Given the description of an element on the screen output the (x, y) to click on. 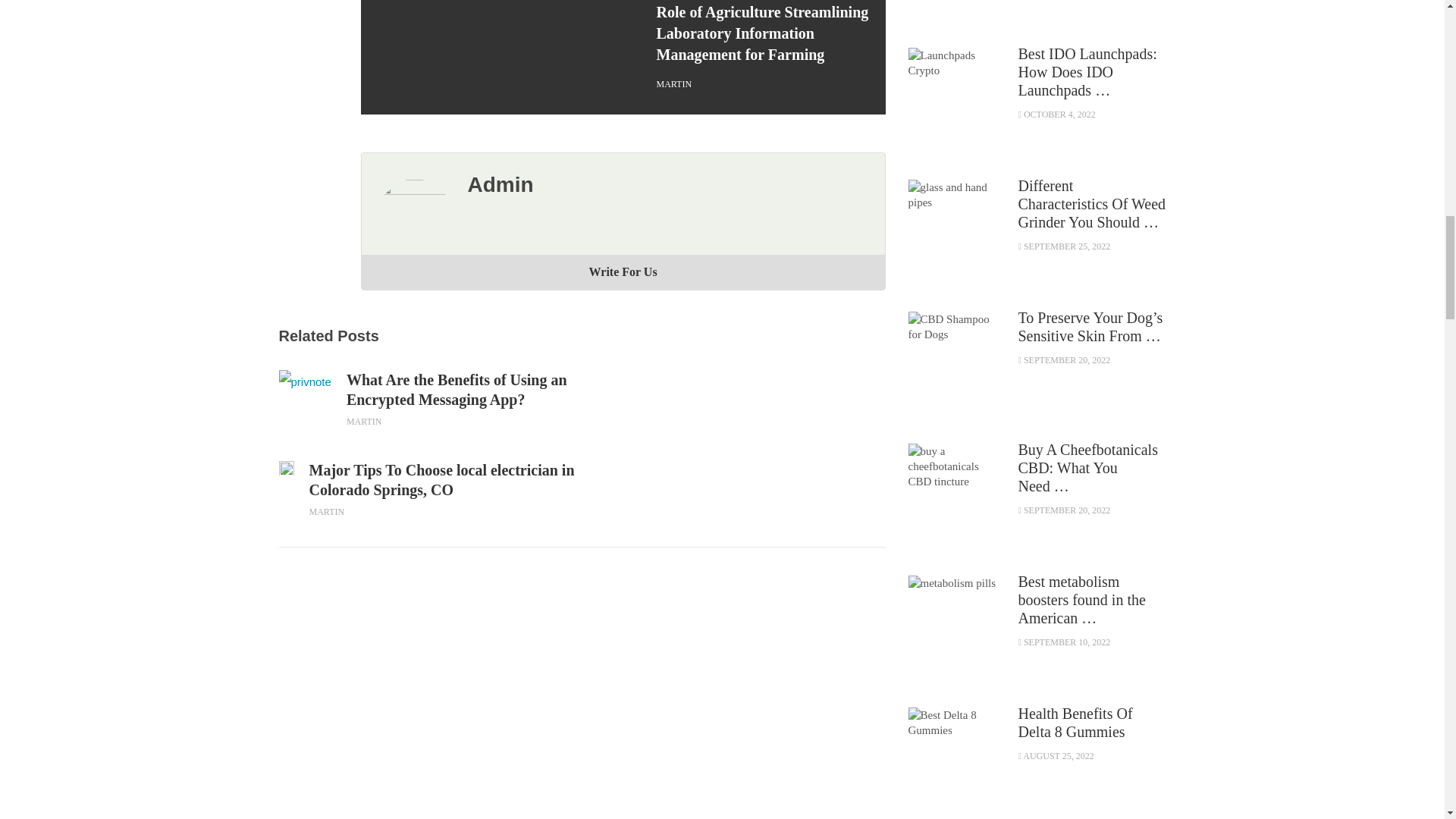
What Are the Benefits of Using an Encrypted Messaging App? (464, 389)
MARTIN (674, 83)
Admin (499, 184)
Write For Us (622, 271)
MARTIN (326, 511)
MARTIN (363, 421)
